Given the description of an element on the screen output the (x, y) to click on. 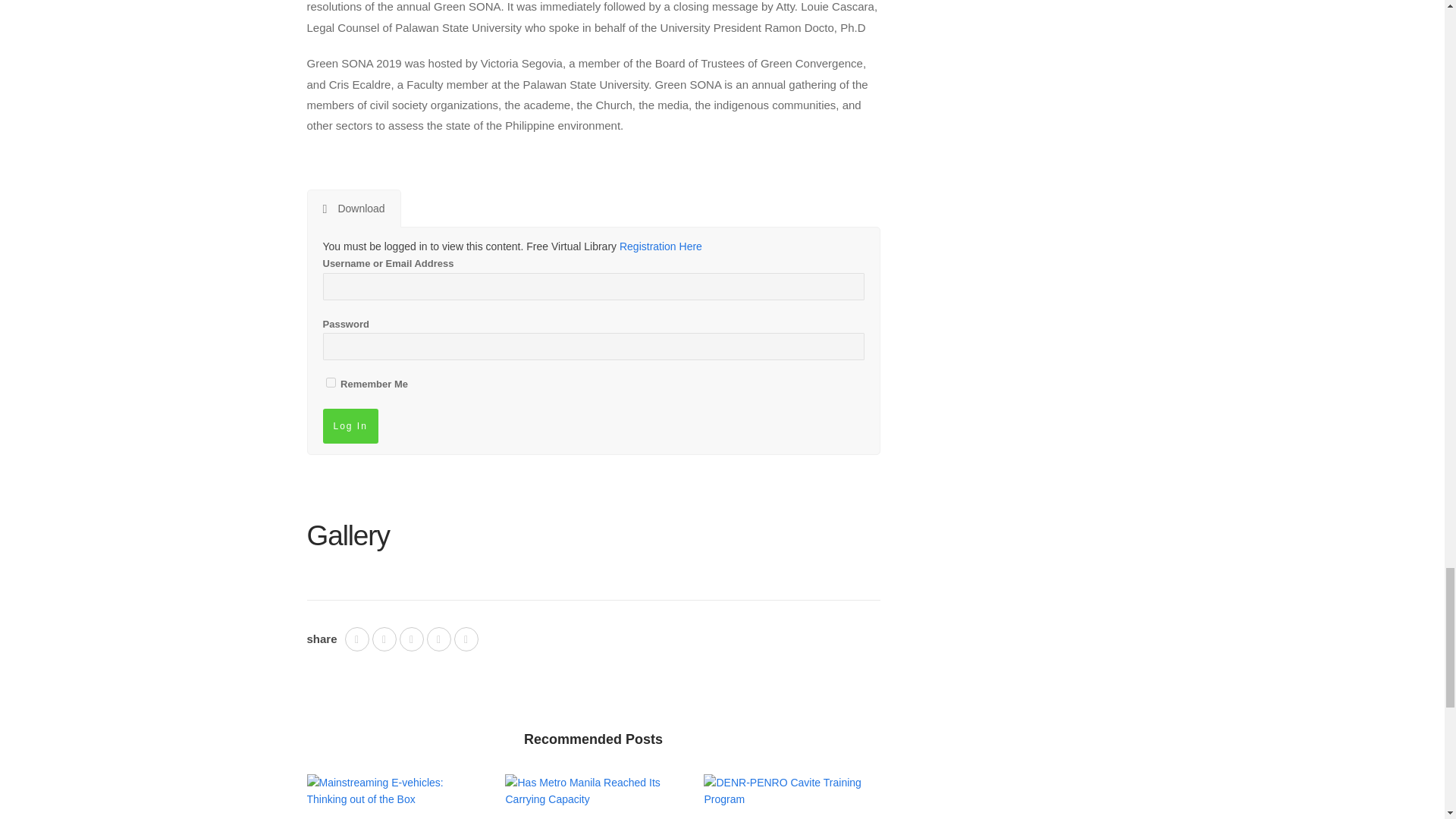
forever (331, 382)
Download (352, 208)
Mainstreaming E-vehicles: Thinking out of the Box (393, 797)
Log In (350, 425)
Registration Here (660, 246)
DENR-PENRO Cavite Training Program (791, 797)
Has Metro Manila Reached Its Carrying Capacity (593, 797)
Log In (350, 425)
